Given the description of an element on the screen output the (x, y) to click on. 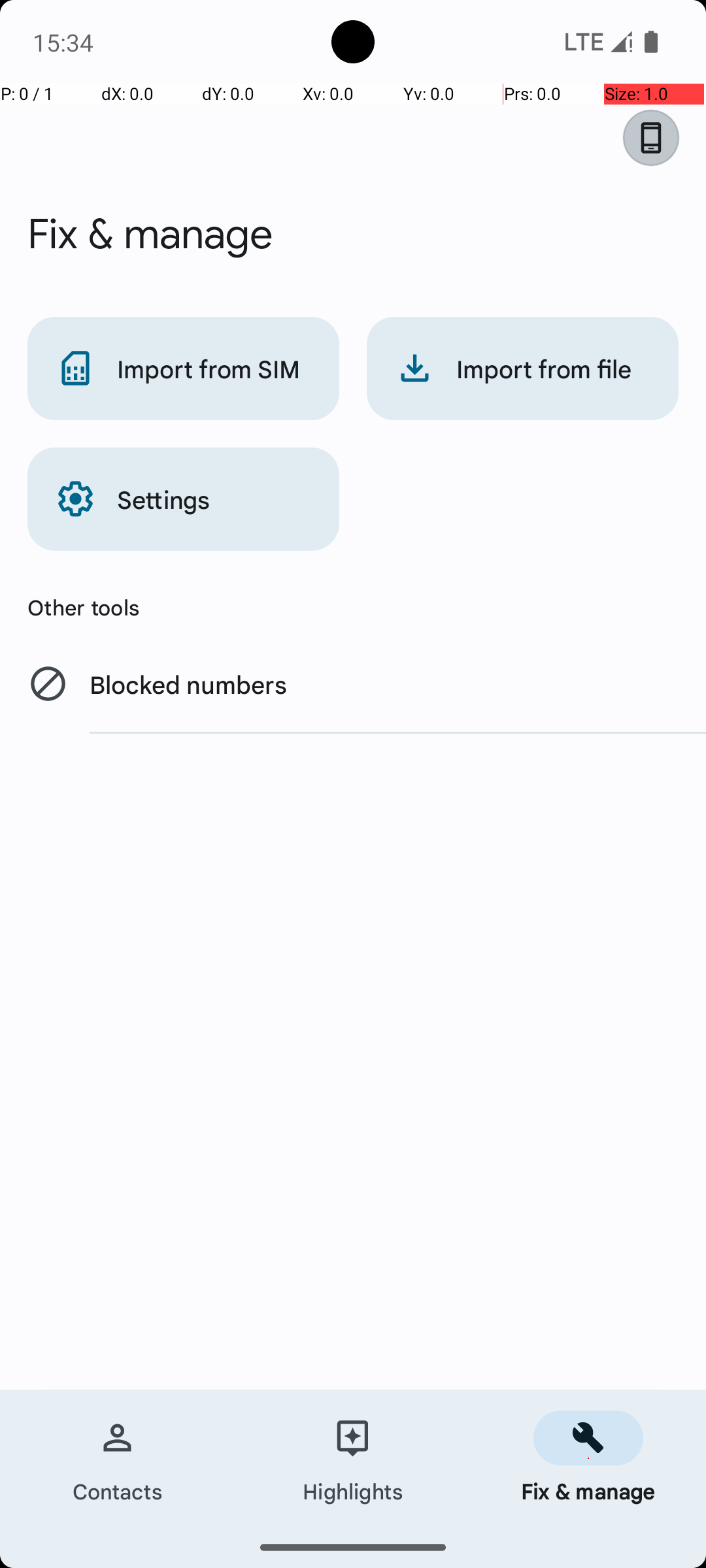
Contacts Element type: android.widget.FrameLayout (117, 1457)
Highlights Element type: android.widget.FrameLayout (352, 1457)
Fix & manage Element type: android.widget.FrameLayout (588, 1457)
Signed in as Device
Account and settings. Element type: android.widget.FrameLayout (657, 137)
Other tools Element type: android.widget.TextView (353, 606)
Import from SIM Element type: android.widget.TextView (183, 368)
Import from file Element type: android.widget.TextView (522, 368)
Blocked numbers Element type: android.widget.TextView (353, 683)
